Given the description of an element on the screen output the (x, y) to click on. 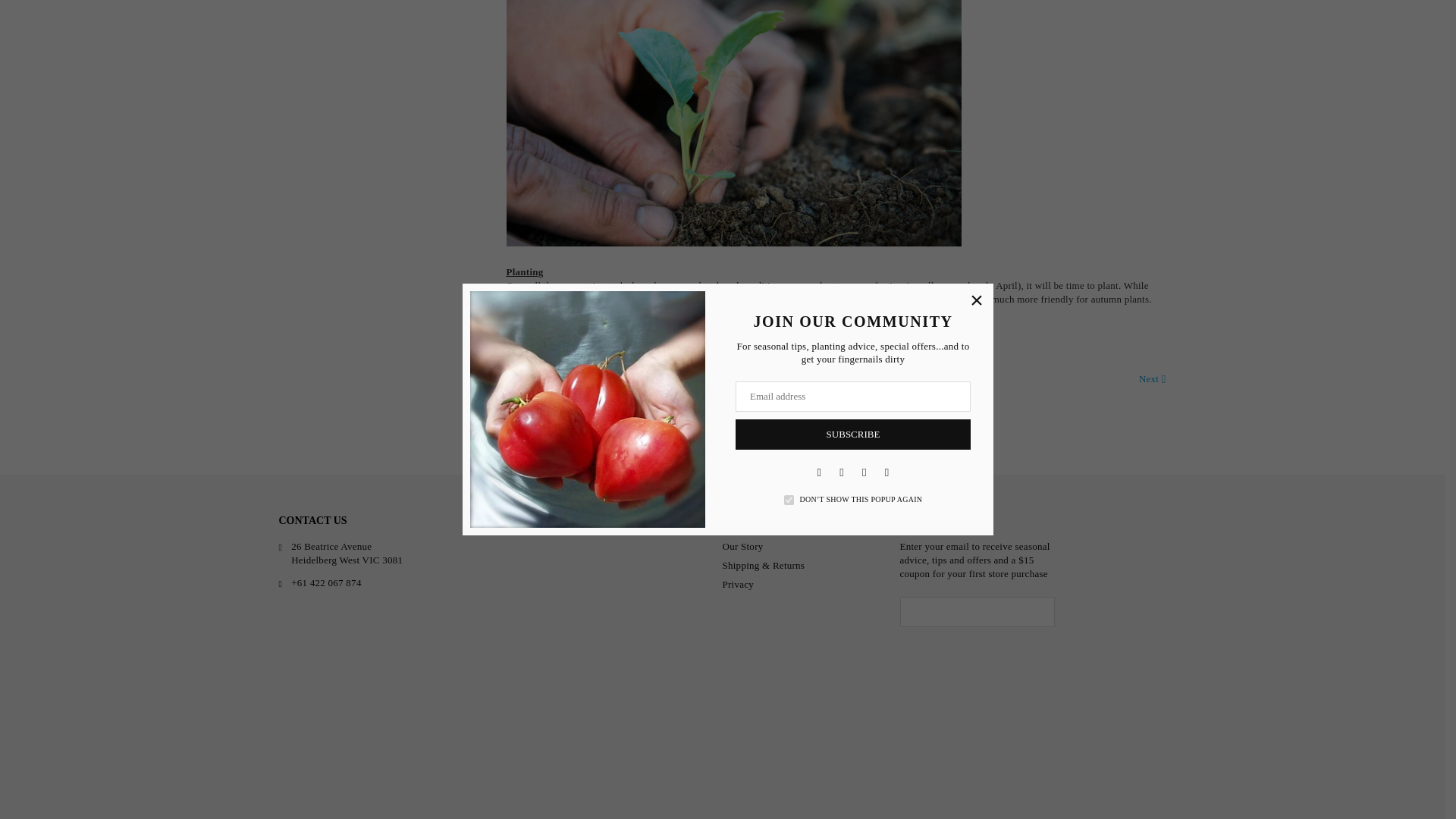
Mastercard (1030, 787)
Shop Pay (1091, 787)
Apple Pay (970, 787)
Google Pay (1000, 787)
Union Pay (1121, 787)
Visa (1152, 787)
PayPal (1061, 787)
